Given the description of an element on the screen output the (x, y) to click on. 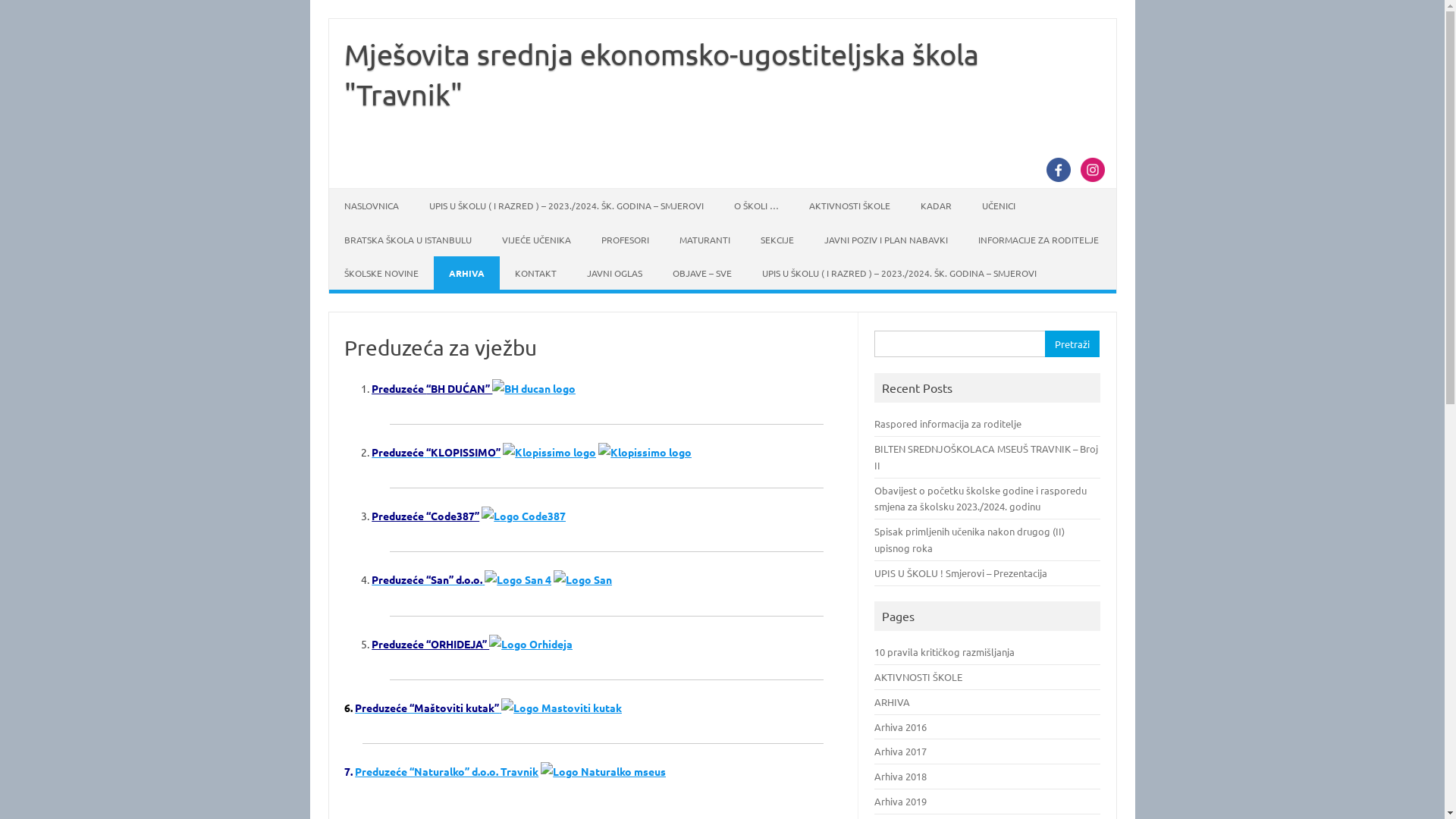
JAVNI OGLAS Element type: text (614, 272)
MATURANTI Element type: text (704, 239)
KONTAKT Element type: text (534, 272)
ARHIVA Element type: text (892, 701)
JAVNI POZIV I PLAN NABAVKI Element type: text (885, 239)
ARHIVA Element type: text (466, 272)
Arhiva 2017 Element type: text (900, 750)
Arhiva 2016 Element type: text (900, 726)
Raspored informacija za roditelje Element type: text (947, 423)
NASLOVNICA Element type: text (371, 205)
SEKCIJE Element type: text (776, 239)
INFORMACIJE ZA RODITELJE Element type: text (1038, 239)
Skip to content Element type: text (327, 17)
Arhiva 2019 Element type: text (900, 800)
PROFESORI Element type: text (624, 239)
KADAR Element type: text (935, 205)
Arhiva 2018 Element type: text (900, 775)
